Given the description of an element on the screen output the (x, y) to click on. 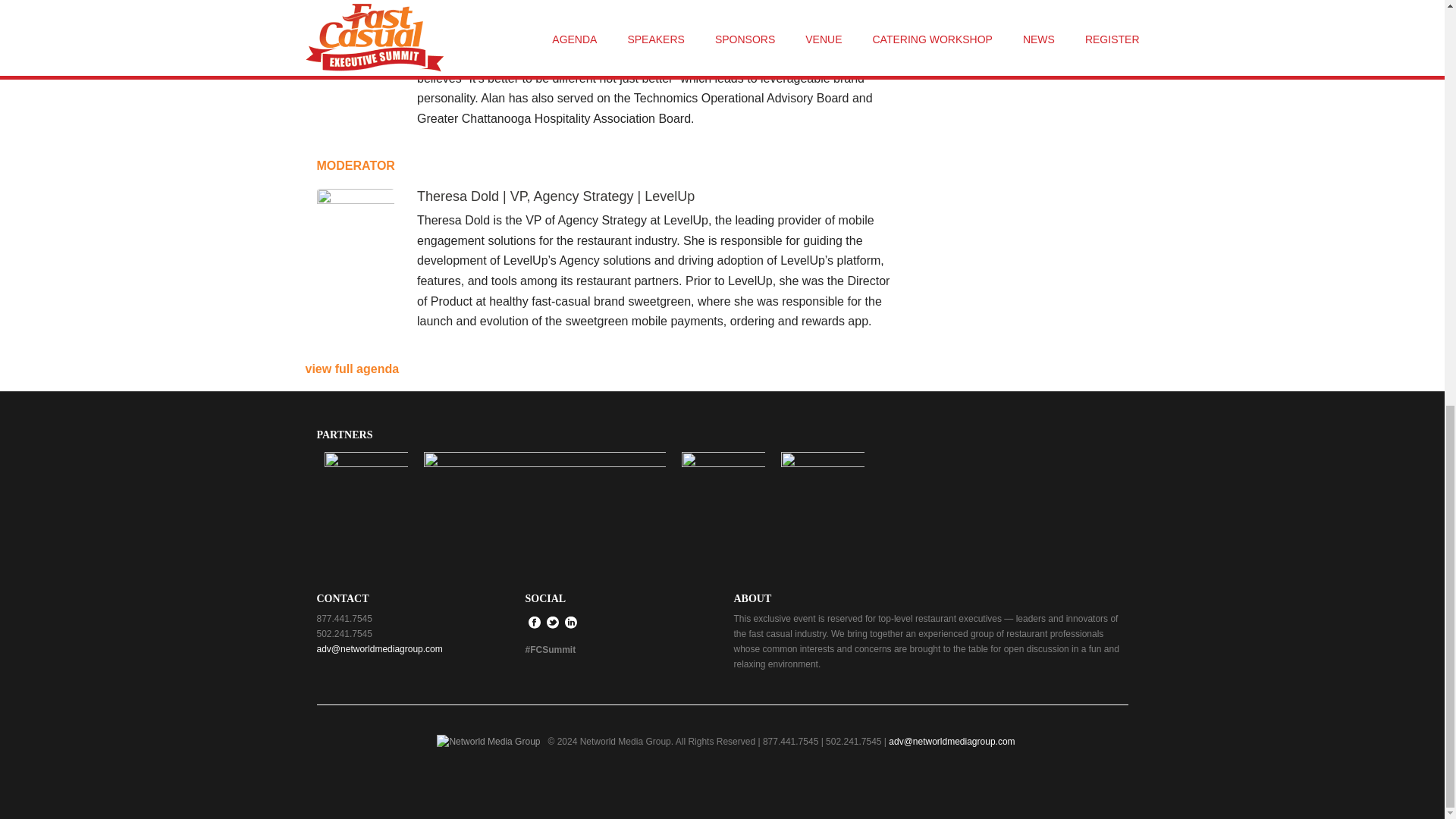
view full agenda (351, 368)
alan-wright (355, 2)
theresa-dold (355, 227)
